Given the description of an element on the screen output the (x, y) to click on. 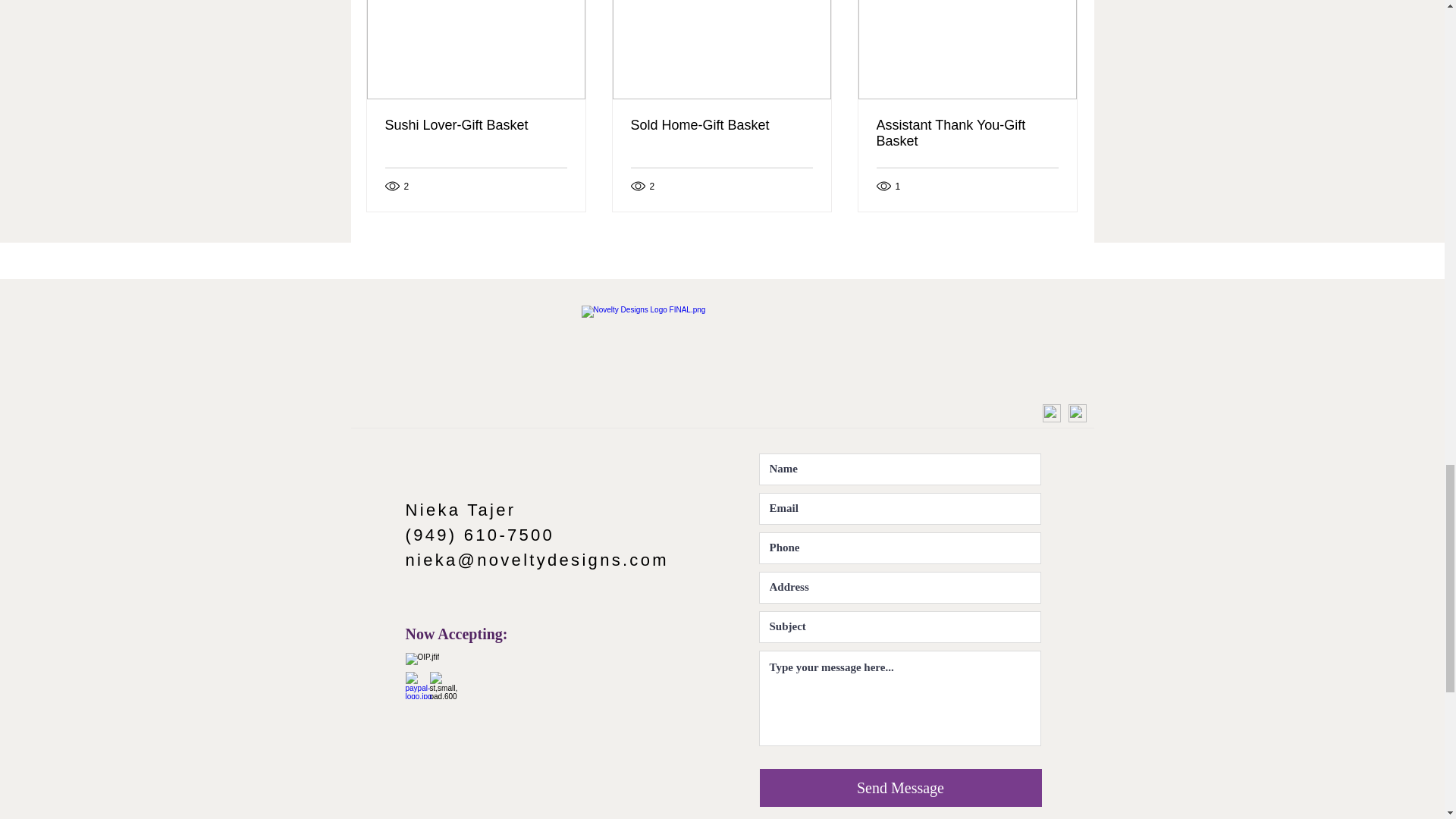
Assistant Thank You-Gift Basket (967, 133)
Sushi Lover-Gift Basket (476, 125)
Sold Home-Gift Basket (721, 125)
Now Accepting: (455, 633)
Send Message (901, 787)
